Given the description of an element on the screen output the (x, y) to click on. 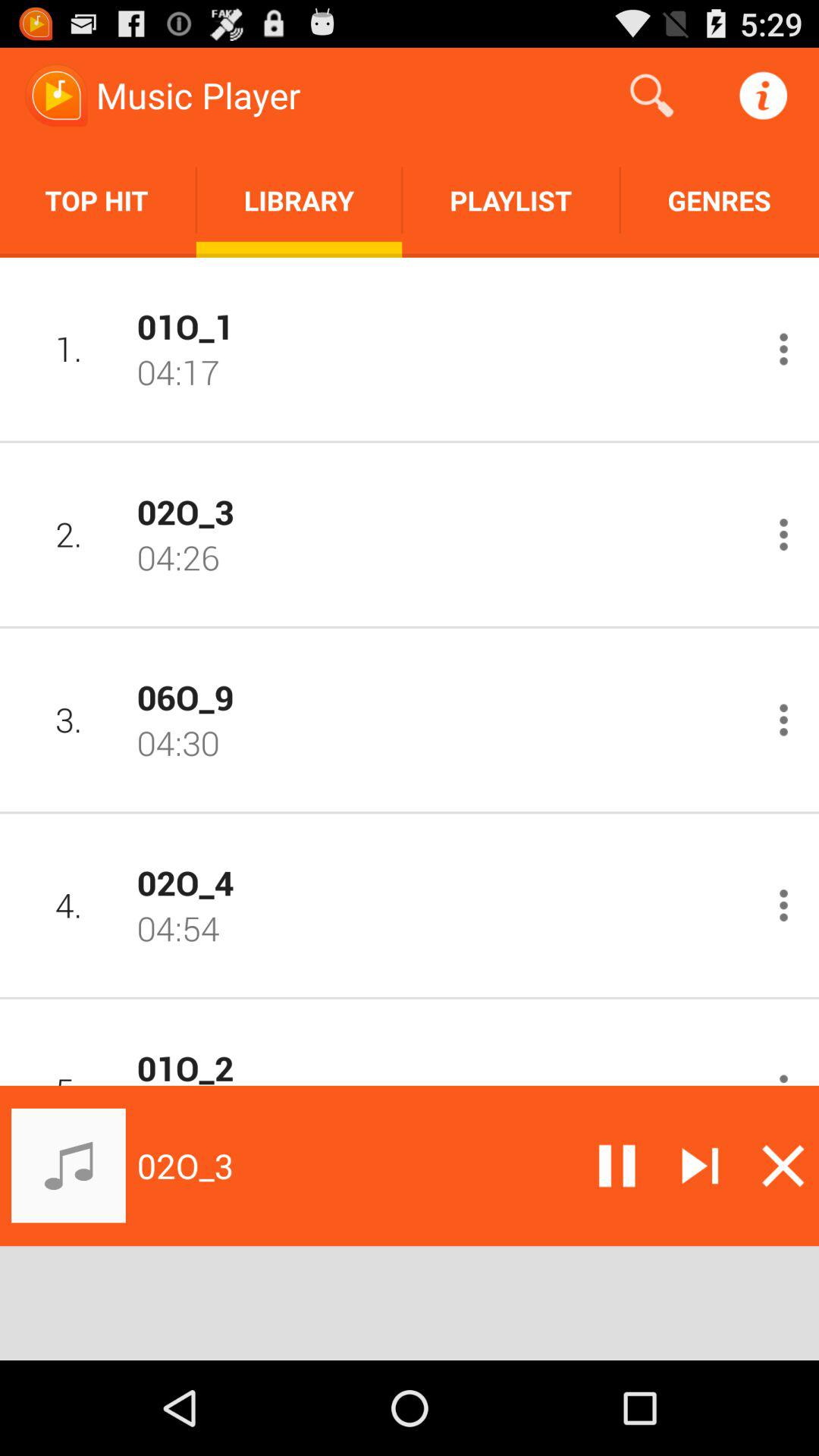
more information about track (783, 349)
